Given the description of an element on the screen output the (x, y) to click on. 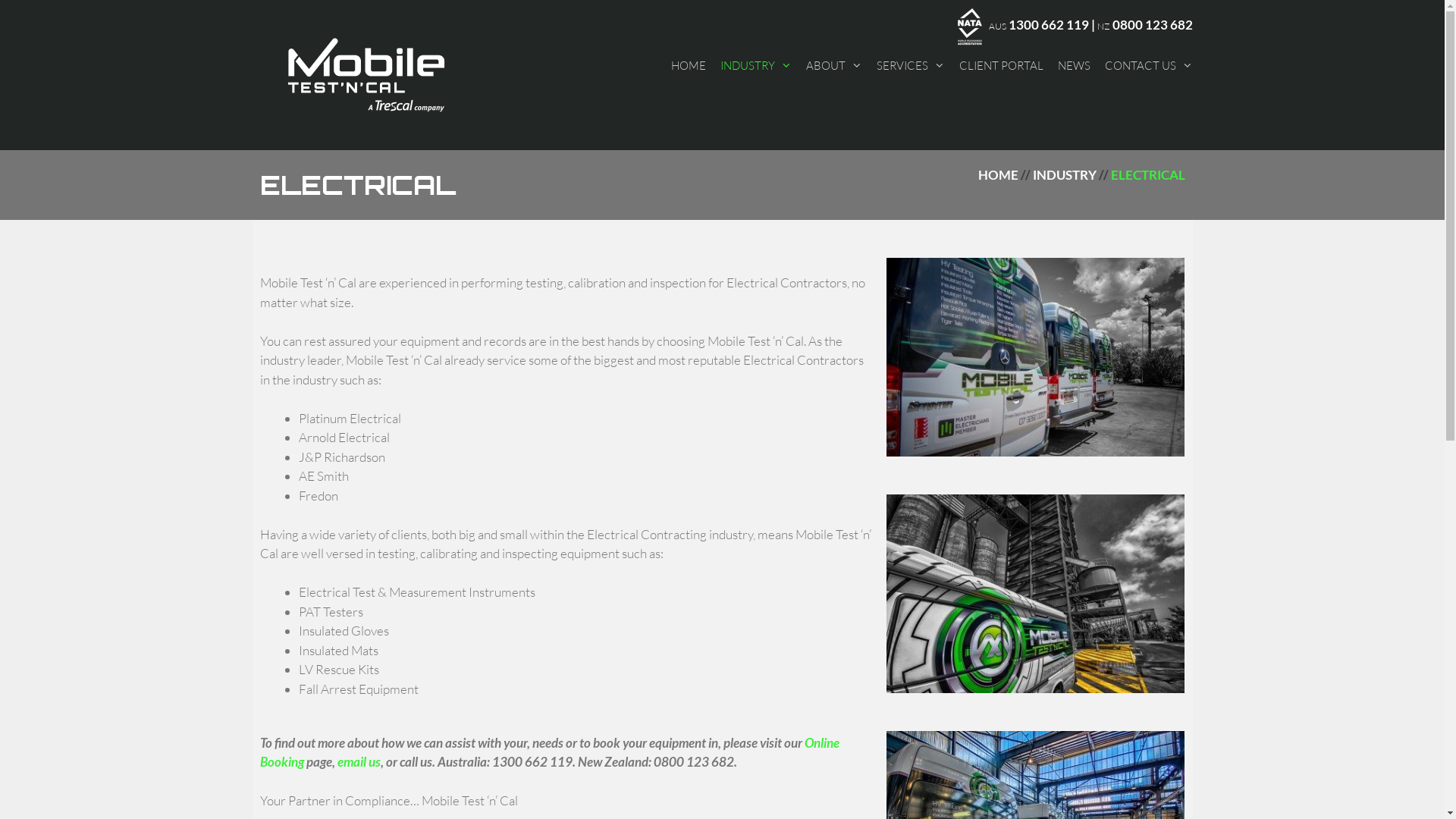
SERVICES Element type: text (910, 64)
0800 123 682 Element type: text (1151, 24)
email us Element type: text (357, 761)
NEWS Element type: text (1073, 64)
INDUSTRY Element type: text (1064, 174)
1300 662 119 Element type: text (1048, 24)
INDUSTRY Element type: text (755, 64)
CONTACT US Element type: text (1148, 64)
ABOUT Element type: text (833, 64)
HOME Element type: text (687, 64)
HOME Element type: text (998, 174)
Online Booking  Element type: text (548, 751)
CLIENT PORTAL Element type: text (1000, 64)
